Given the description of an element on the screen output the (x, y) to click on. 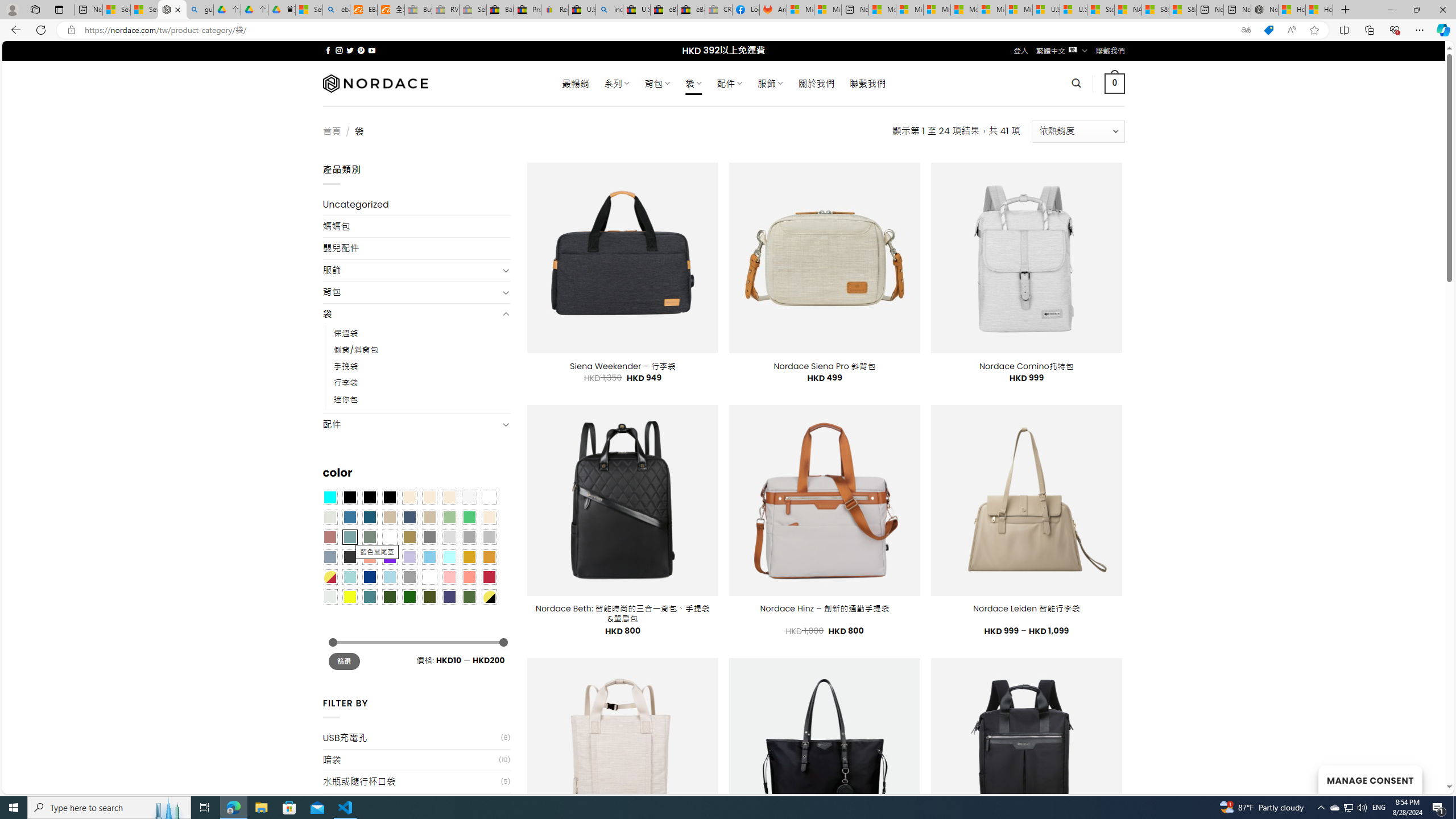
Buy Auto Parts & Accessories | eBay - Sleeping (418, 9)
Restore (1416, 9)
Split screen (1344, 29)
Register: Create a personal eBay account (554, 9)
